Given the description of an element on the screen output the (x, y) to click on. 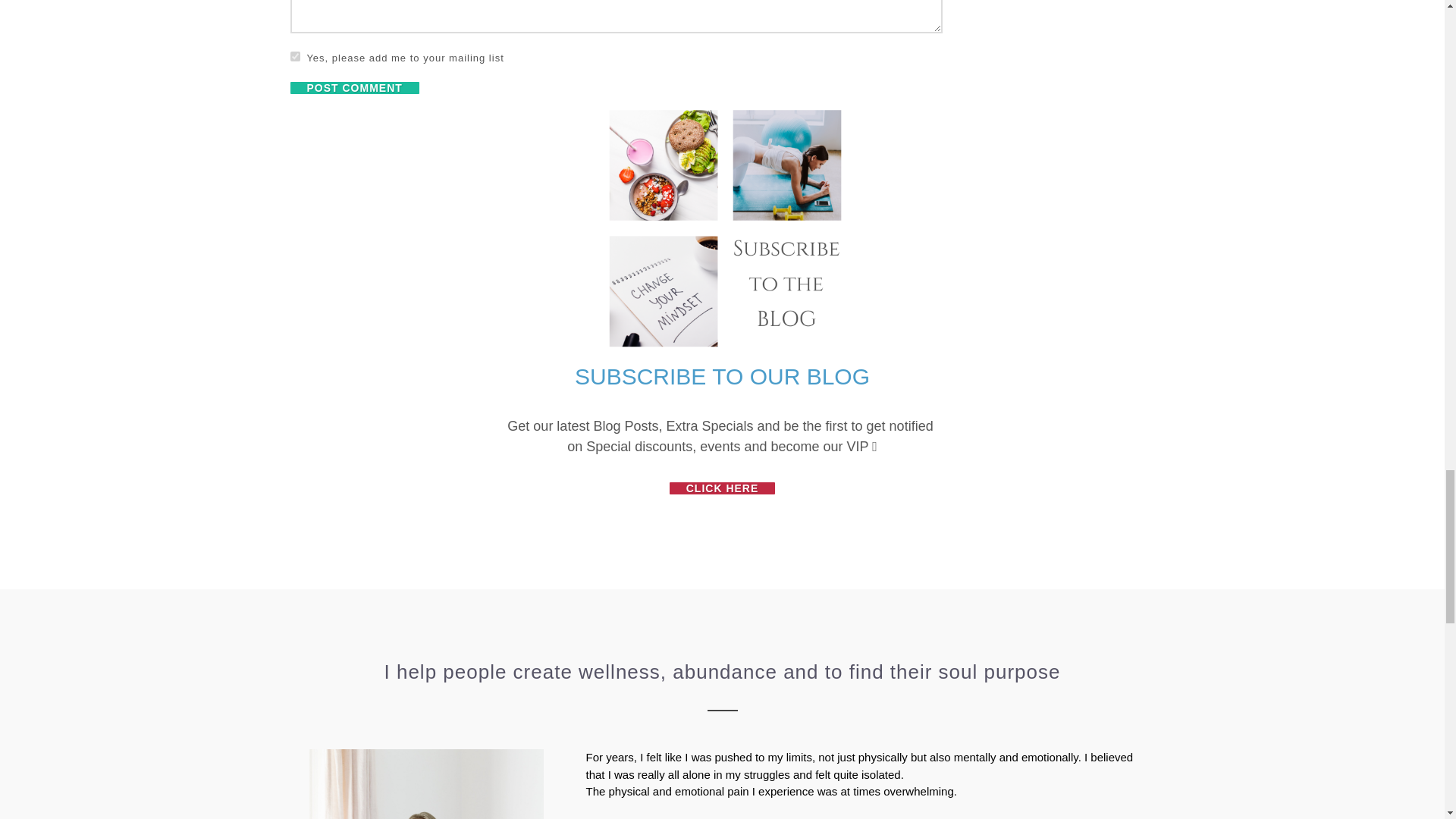
Y (294, 56)
